Given the description of an element on the screen output the (x, y) to click on. 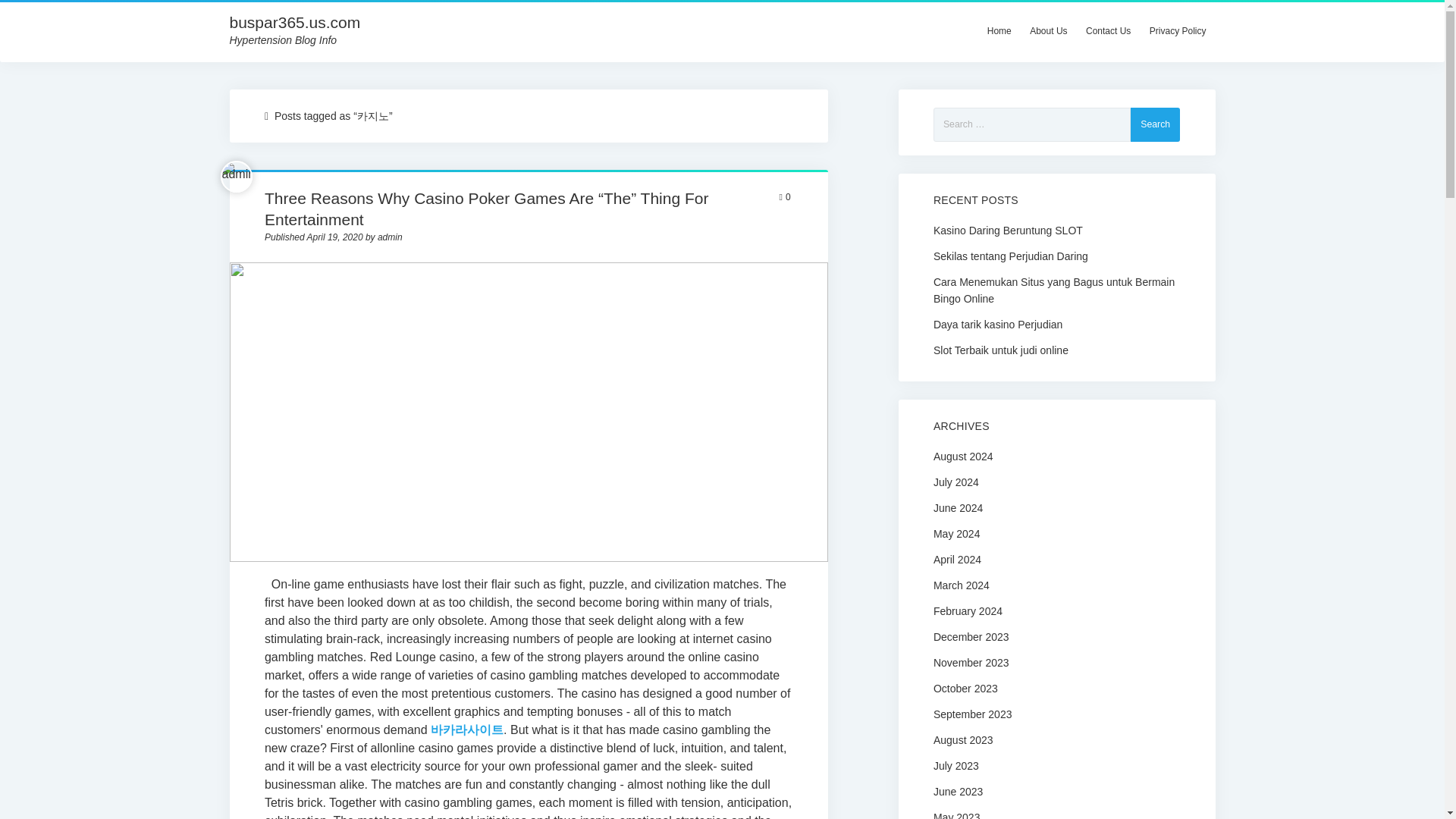
August 2023 (962, 739)
Slot Terbaik untuk judi online (1056, 349)
About Us (1047, 31)
July 2023 (955, 766)
December 2023 (971, 636)
September 2023 (972, 714)
buspar365.us.com (293, 22)
August 2024 (962, 456)
April 2024 (957, 559)
July 2024 (955, 481)
